Given the description of an element on the screen output the (x, y) to click on. 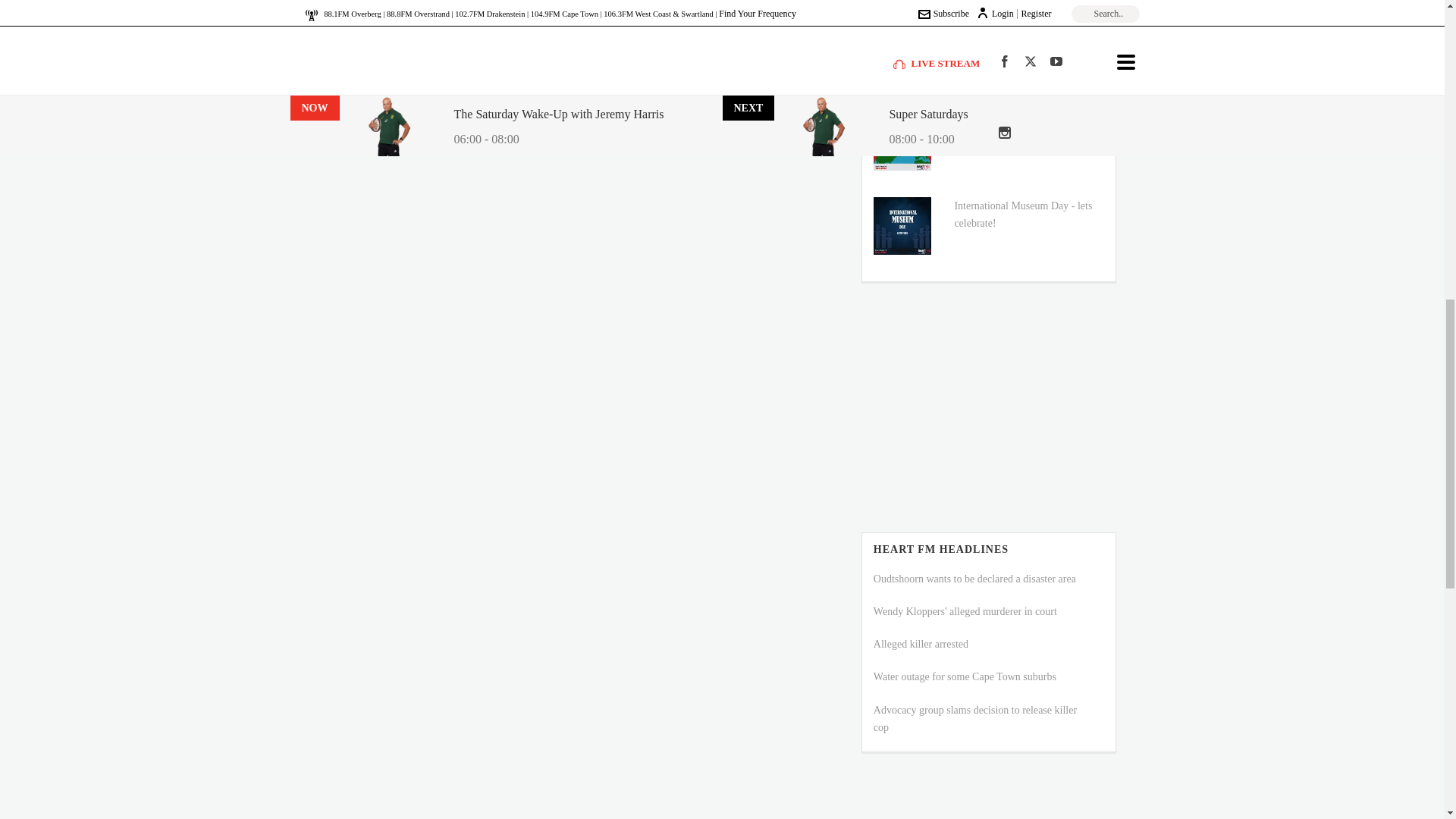
International Day Of Biological Diversity (902, 141)
museum (902, 226)
International Day of Biological Diversity (1019, 129)
Alleged killer arrested (920, 644)
International Museum Day - lets celebrate! (1022, 214)
tempimagepvzsmt (902, 56)
Wendy Kloppers' alleged murderer in court (965, 611)
Advocacy group slams decision to release killer cop (975, 718)
Oudtshoorn wants to be declared a disaster area (974, 578)
Water outage for some Cape Town suburbs (965, 676)
